Given the description of an element on the screen output the (x, y) to click on. 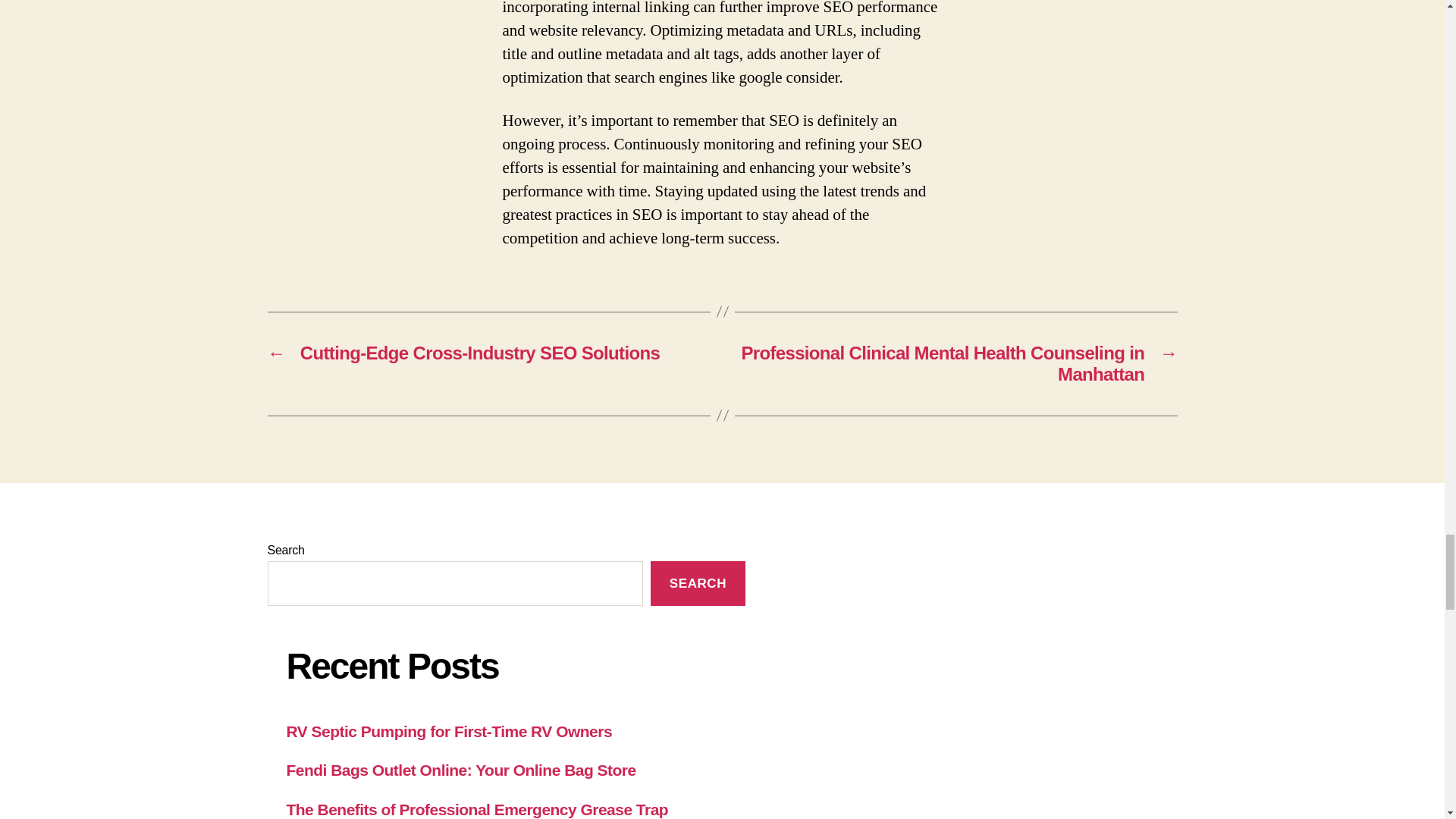
Fendi Bags Outlet Online: Your Online Bag Store (461, 769)
SEARCH (697, 583)
RV Septic Pumping for First-Time RV Owners (449, 731)
The Benefits of Professional Emergency Grease Trap Cleaning (477, 809)
